Given the description of an element on the screen output the (x, y) to click on. 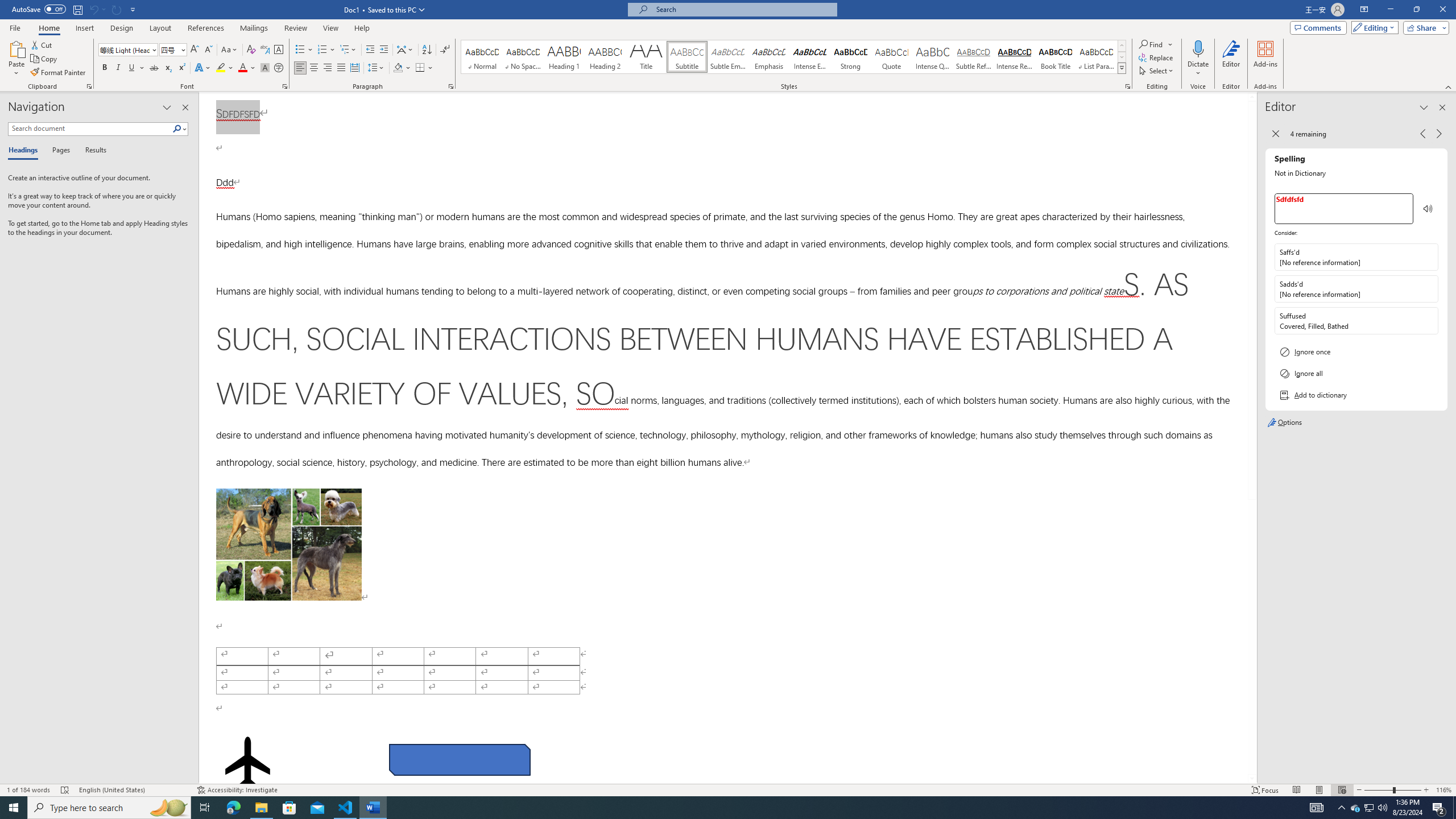
Bullets (300, 49)
Select (1157, 69)
Font Color Red (241, 67)
More options for Sadds'd (1428, 289)
Clear Formatting (250, 49)
Paragraph... (450, 85)
Print Layout (1318, 790)
Intense Emphasis (809, 56)
Comments (1318, 27)
Task Pane Options (167, 107)
Read Mode (1296, 790)
Dictate (1197, 58)
Subtitle (686, 56)
Intense Reference (1014, 56)
